Given the description of an element on the screen output the (x, y) to click on. 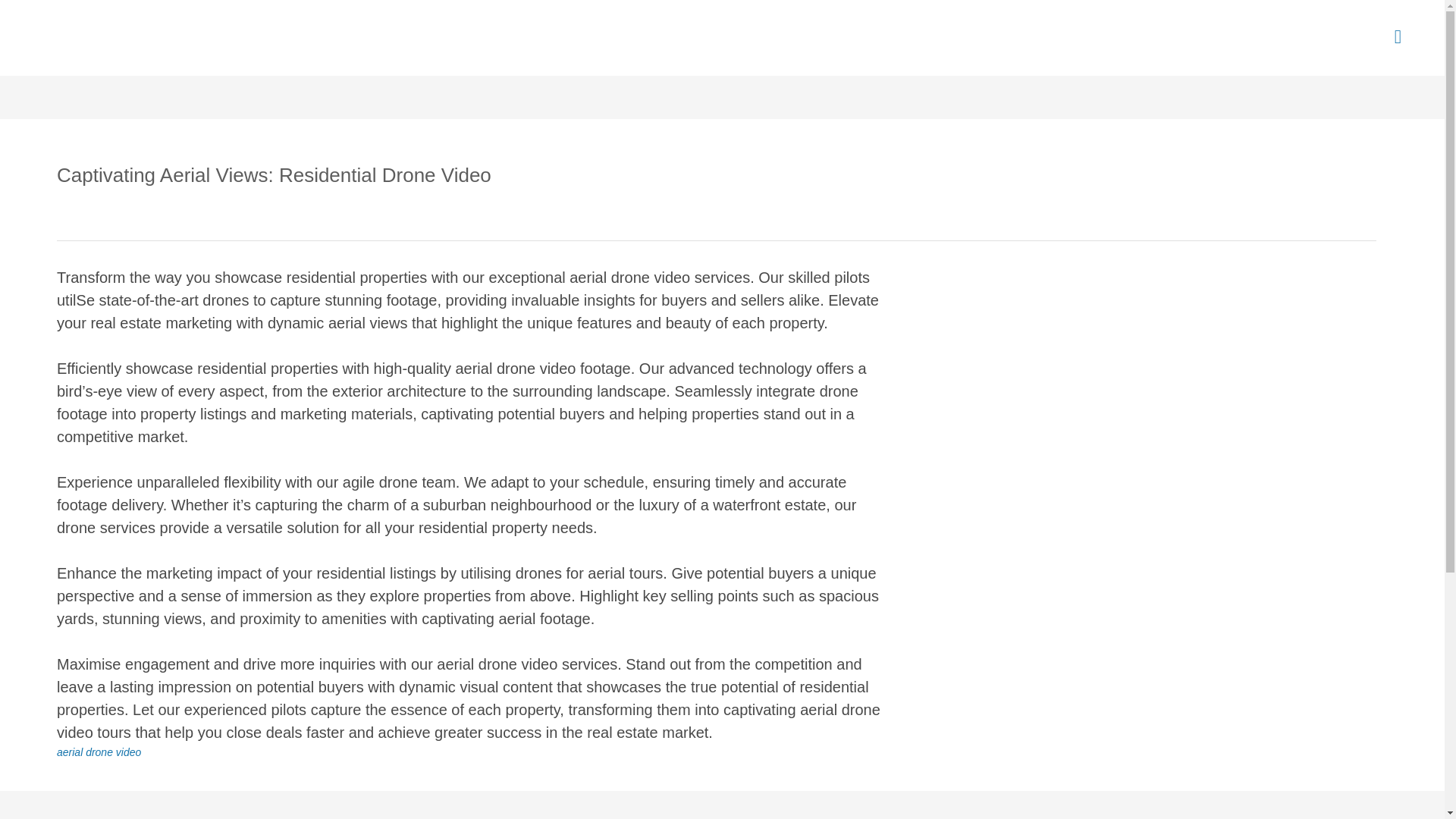
video (128, 752)
aerial drone (84, 752)
